Given the description of an element on the screen output the (x, y) to click on. 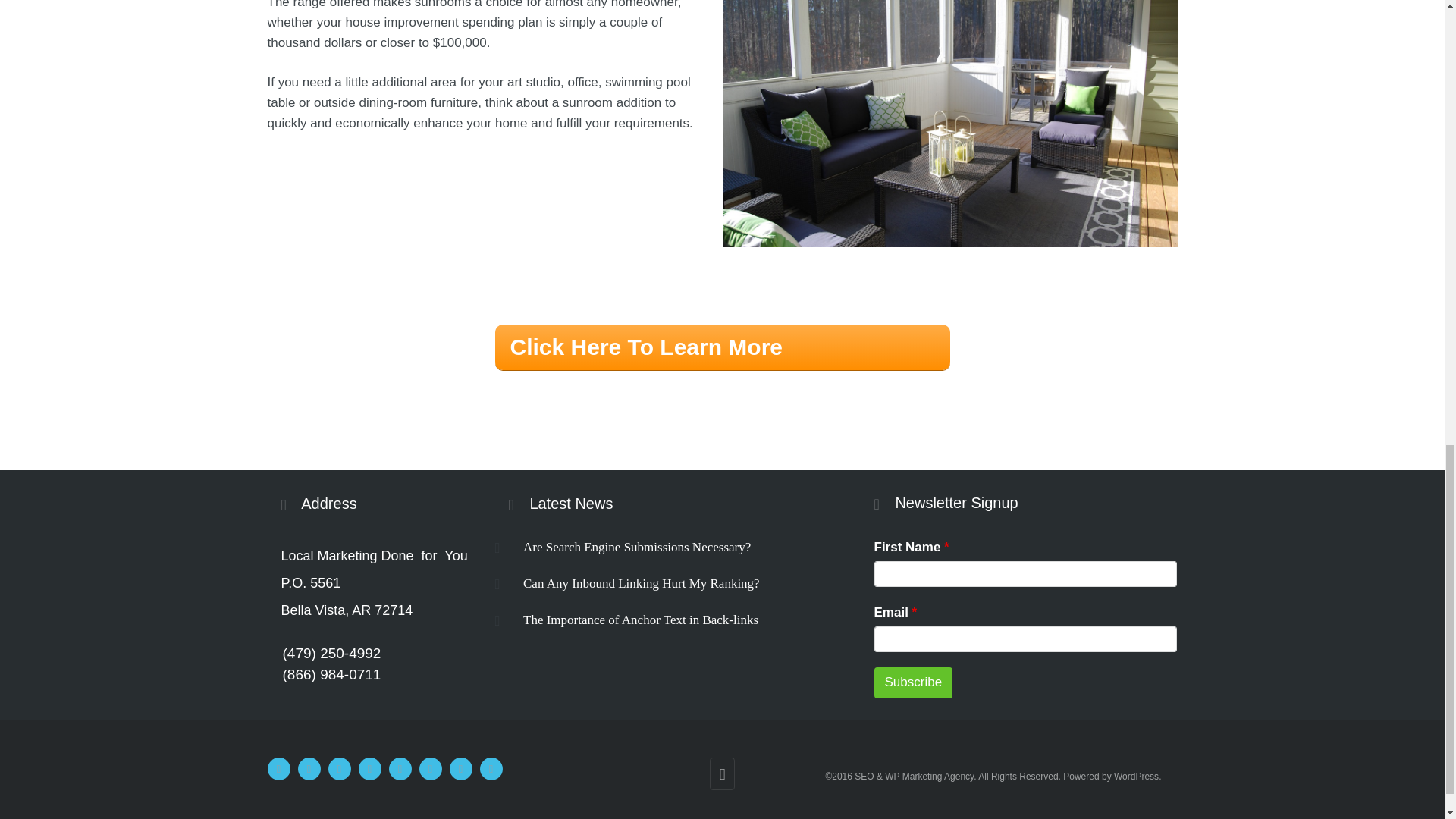
Subscribe (912, 682)
